Given the description of an element on the screen output the (x, y) to click on. 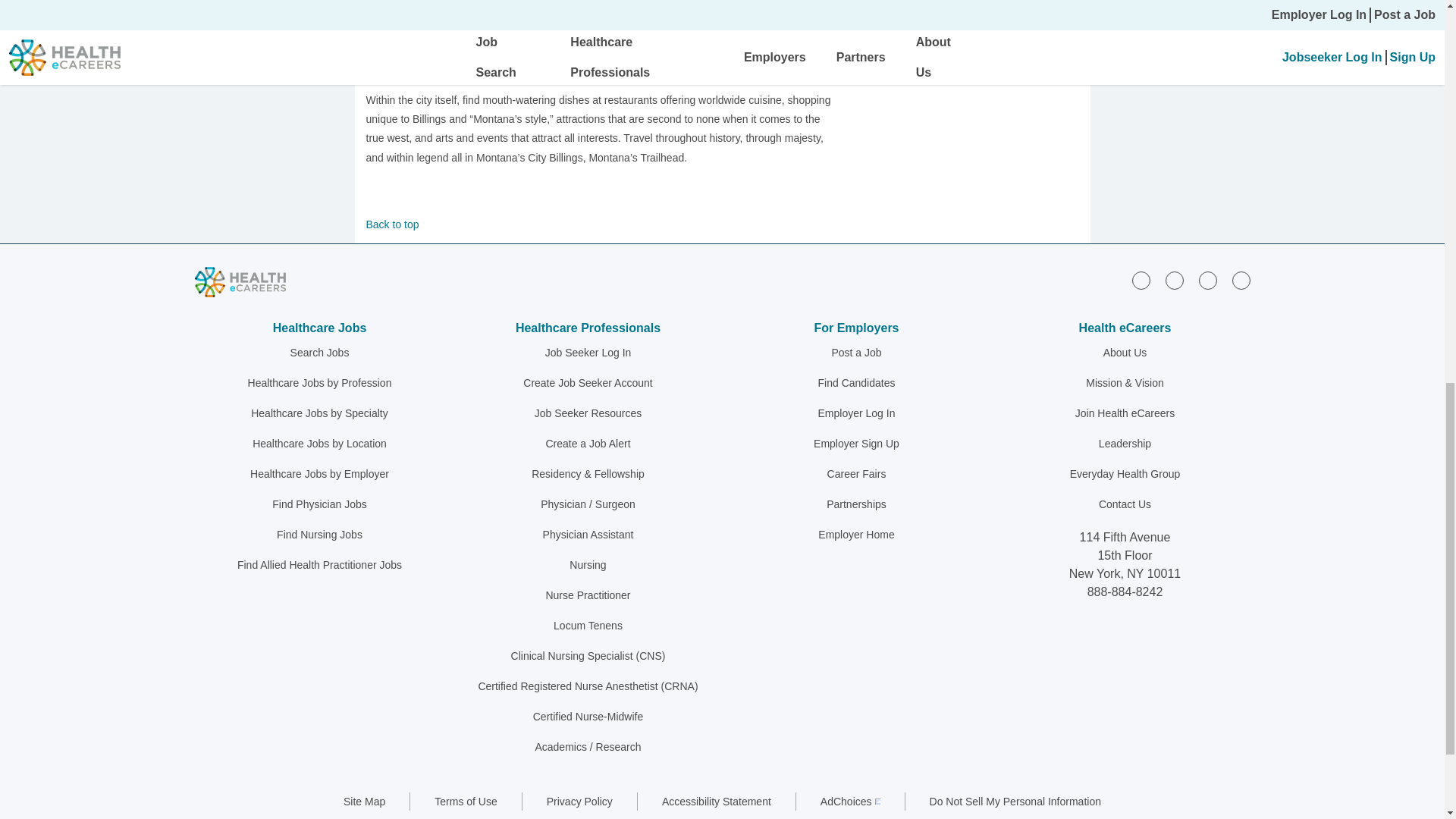
twitter (1206, 280)
linkedin (1140, 280)
facebook (1173, 280)
Back to top (598, 224)
youtube (1240, 280)
